Given the description of an element on the screen output the (x, y) to click on. 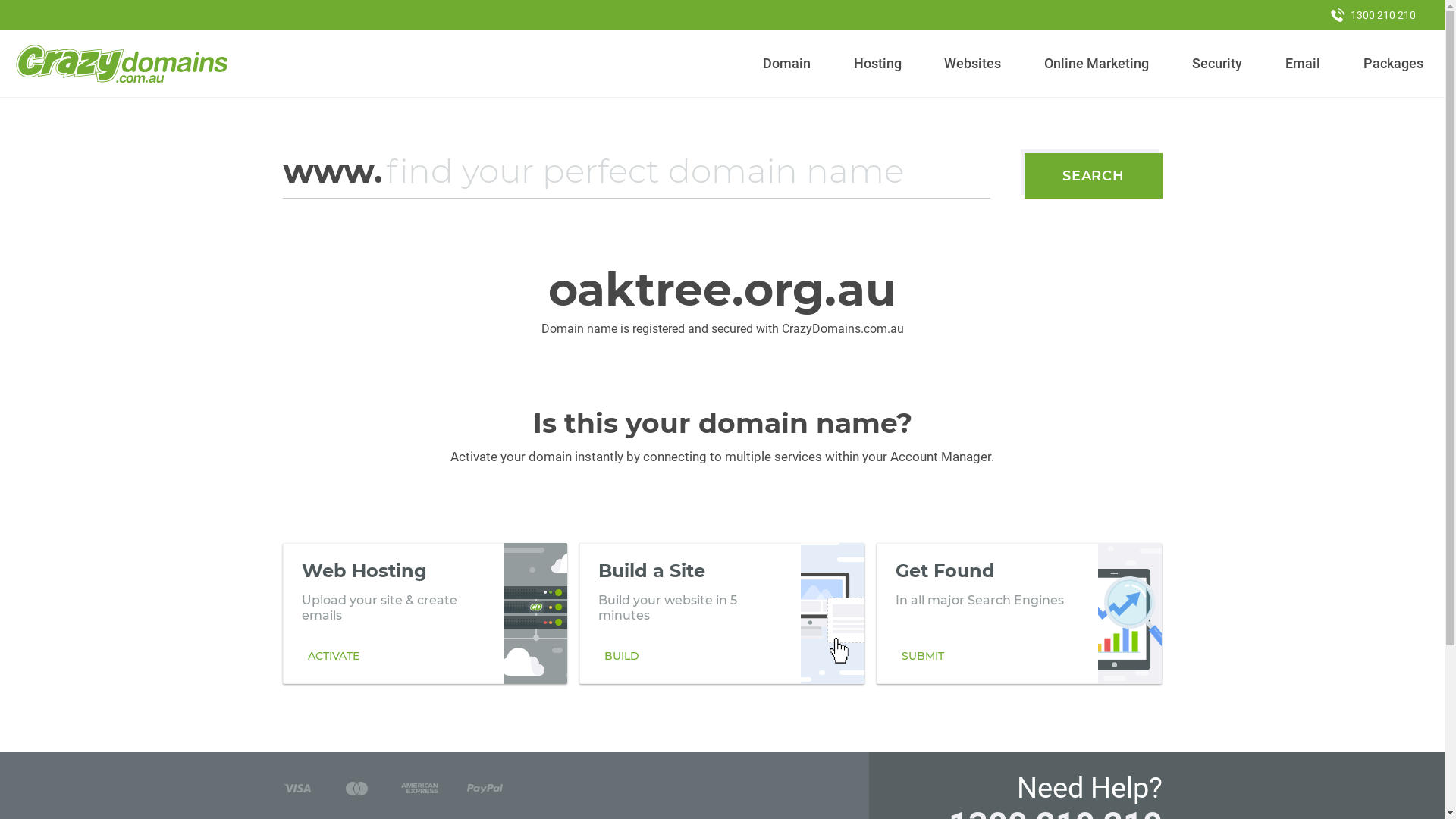
Get Found
In all major Search Engines
SUBMIT Element type: text (1018, 613)
SEARCH Element type: text (1092, 175)
Packages Element type: text (1392, 63)
Email Element type: text (1302, 63)
Online Marketing Element type: text (1096, 63)
Build a Site
Build your website in 5 minutes
BUILD Element type: text (721, 613)
Security Element type: text (1217, 63)
1300 210 210 Element type: text (1373, 15)
Hosting Element type: text (877, 63)
Websites Element type: text (972, 63)
Domain Element type: text (786, 63)
Web Hosting
Upload your site & create emails
ACTIVATE Element type: text (424, 613)
